Given the description of an element on the screen output the (x, y) to click on. 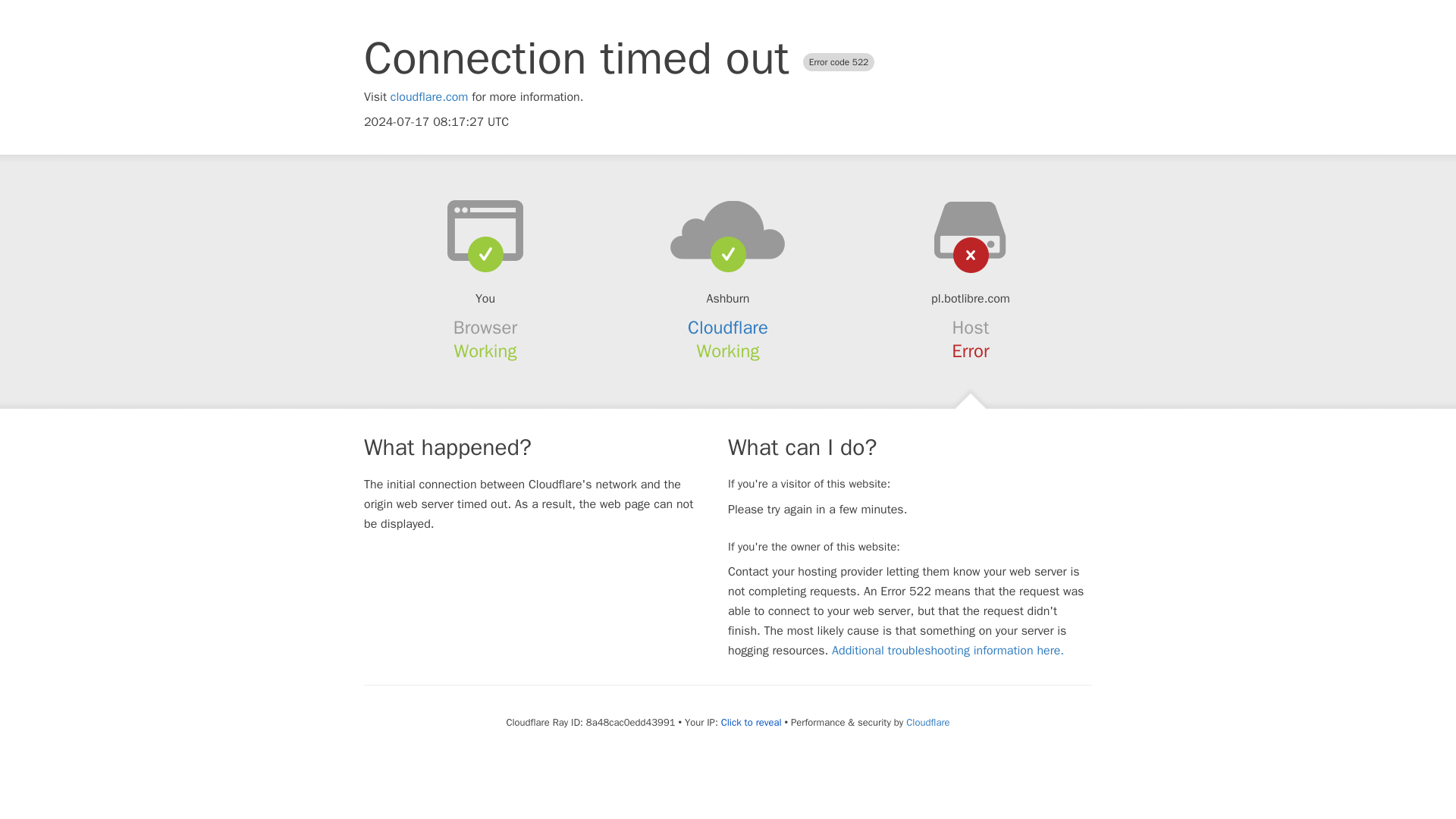
Cloudflare (727, 327)
Click to reveal (750, 722)
Additional troubleshooting information here. (947, 650)
Cloudflare (927, 721)
cloudflare.com (429, 96)
